Given the description of an element on the screen output the (x, y) to click on. 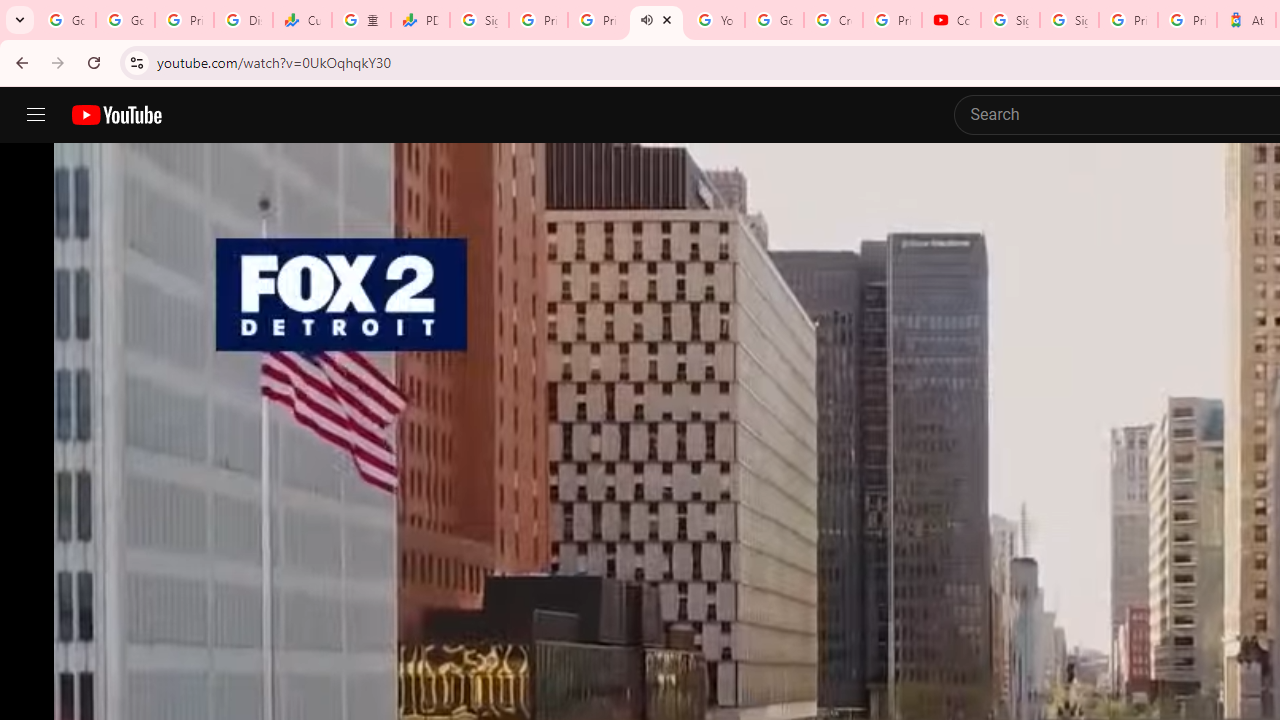
YouTube Home (116, 115)
Google Workspace Admin Community (66, 20)
Google Account Help (774, 20)
Privacy Checkup (597, 20)
Create your Google Account (832, 20)
Sign in - Google Accounts (479, 20)
Sign in - Google Accounts (1069, 20)
